Given the description of an element on the screen output the (x, y) to click on. 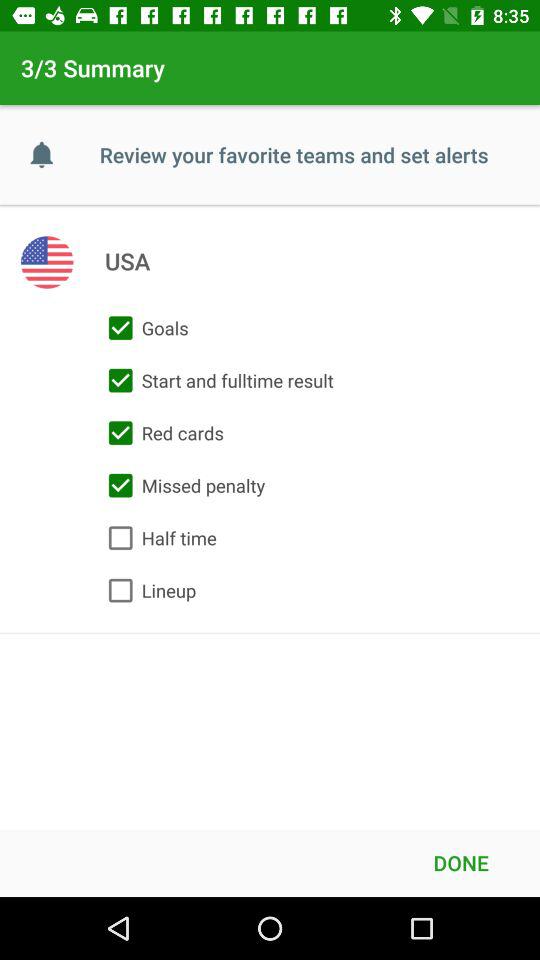
choose item above the start and fulltime item (143, 328)
